Given the description of an element on the screen output the (x, y) to click on. 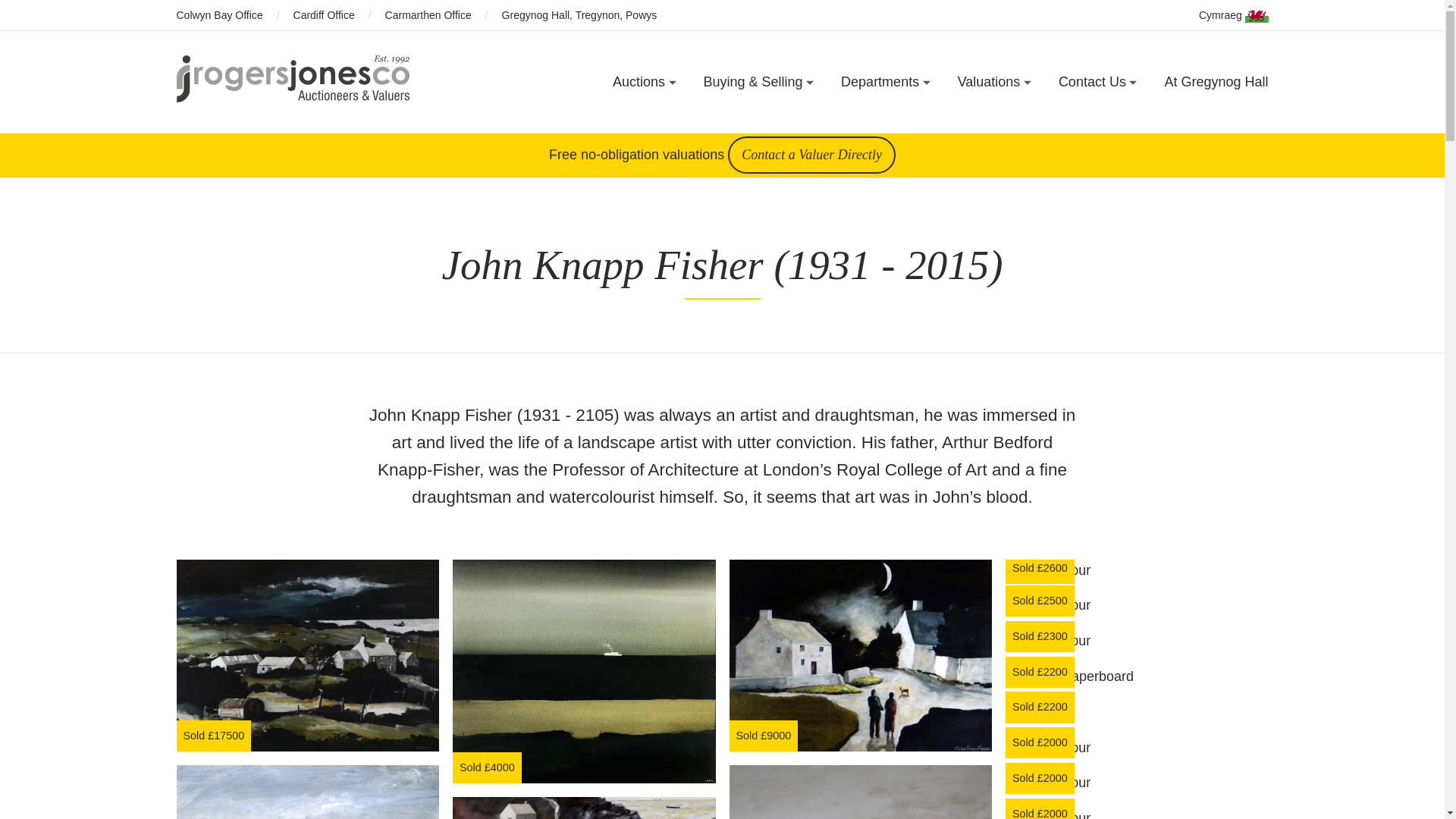
Departments (885, 82)
Carmarthen Office (1045, 128)
Gregynog Hall, Tregynon, Powys (1088, 128)
Auctions (644, 82)
Back Catalogues (587, 128)
Professional Valuations (957, 128)
Valuation Events Near You (966, 128)
Colwyn Bay Office (219, 15)
Colwyn Bay Saleroom, North Wales (1096, 140)
Past Sales (568, 128)
